Given the description of an element on the screen output the (x, y) to click on. 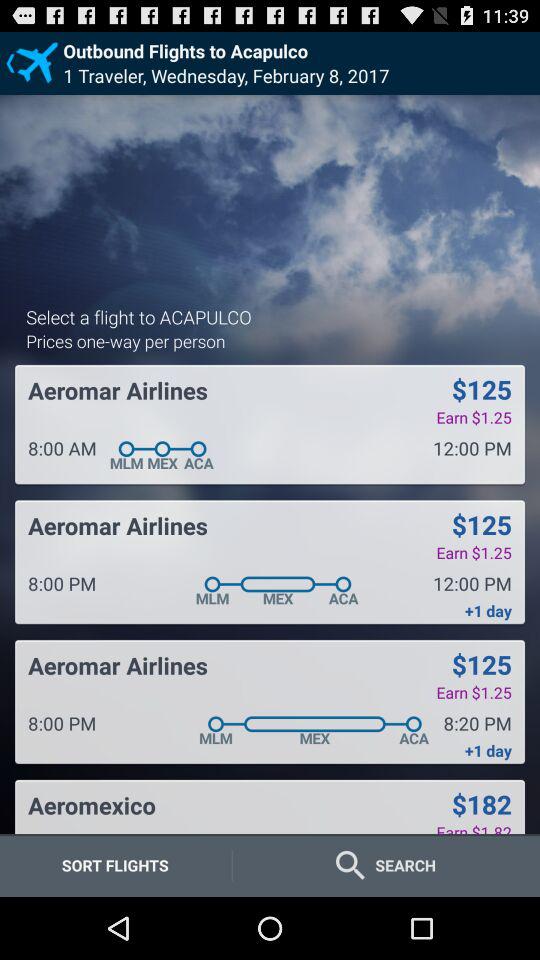
click sort flights (115, 864)
